Given the description of an element on the screen output the (x, y) to click on. 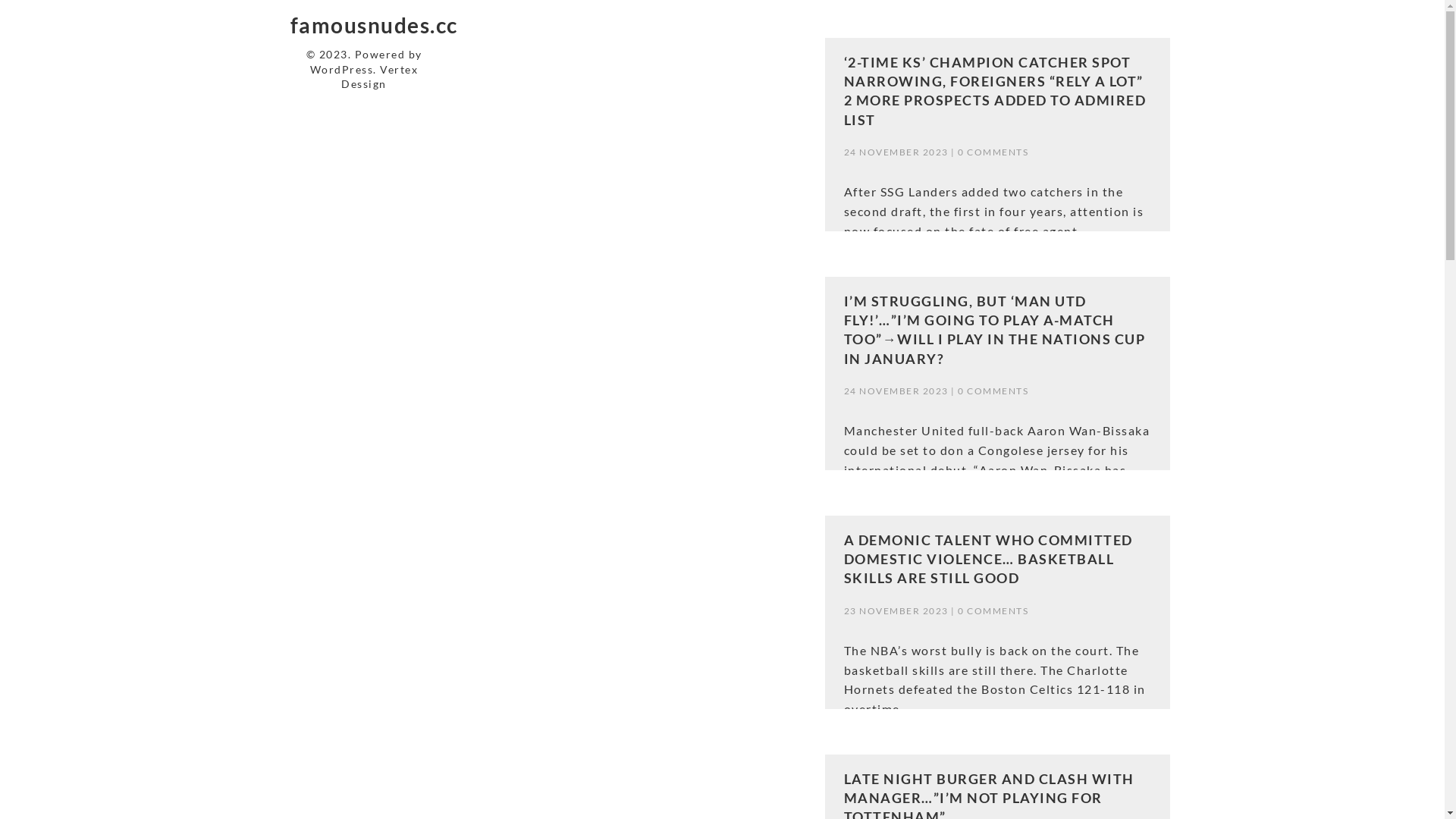
0 COMMENTS Element type: text (992, 610)
Dessign Element type: text (363, 83)
0 COMMENTS Element type: text (992, 390)
WordPress Element type: text (341, 68)
famousnudes.cc Element type: text (373, 24)
0 COMMENTS Element type: text (992, 151)
